Given the description of an element on the screen output the (x, y) to click on. 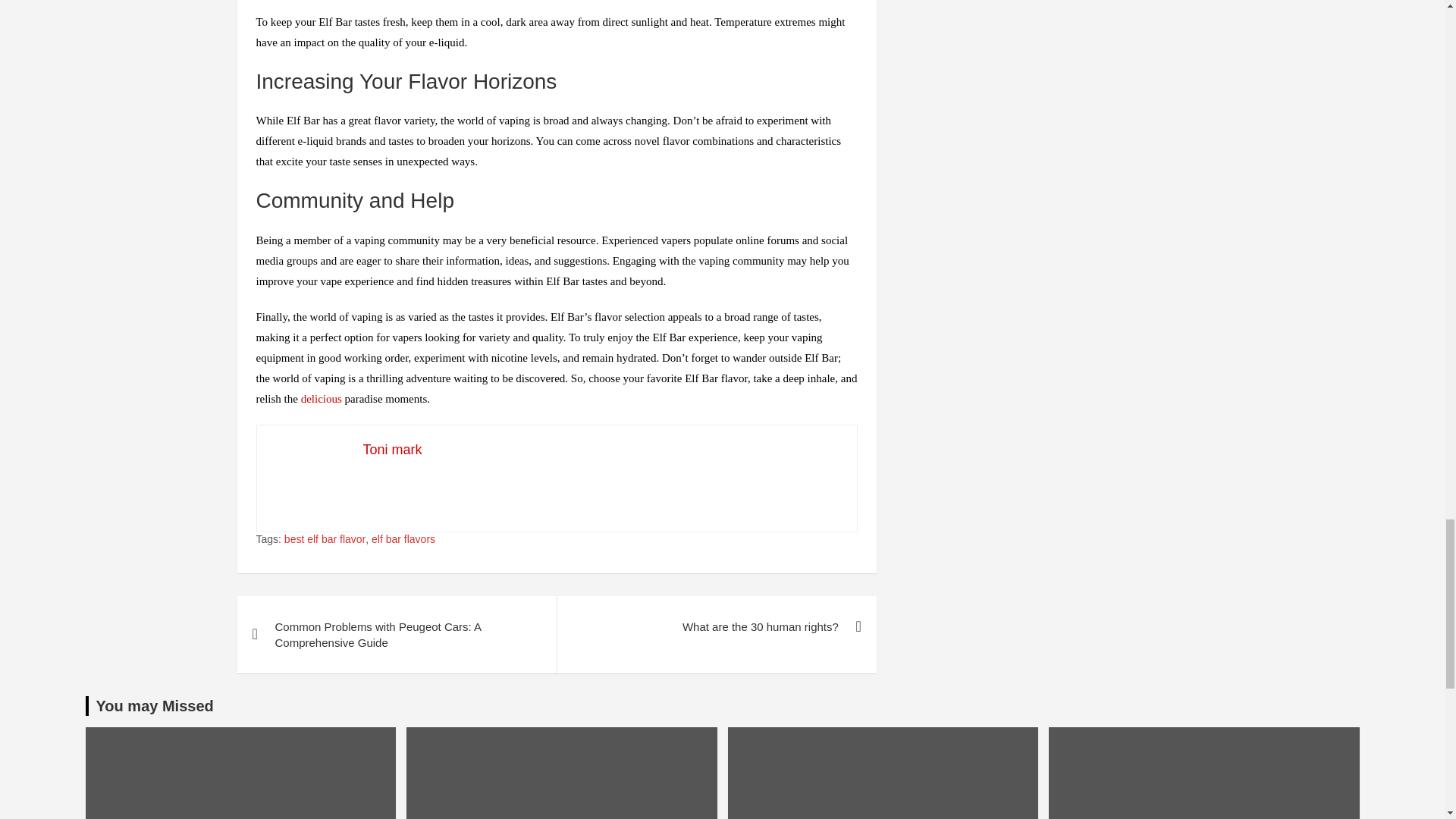
best elf bar flavor (324, 539)
Toni mark (392, 449)
Common Problems with Peugeot Cars: A Comprehensive Guide (395, 634)
elf bar flavors (403, 539)
delicious (321, 398)
What are the 30 human rights? (716, 626)
